Given the description of an element on the screen output the (x, y) to click on. 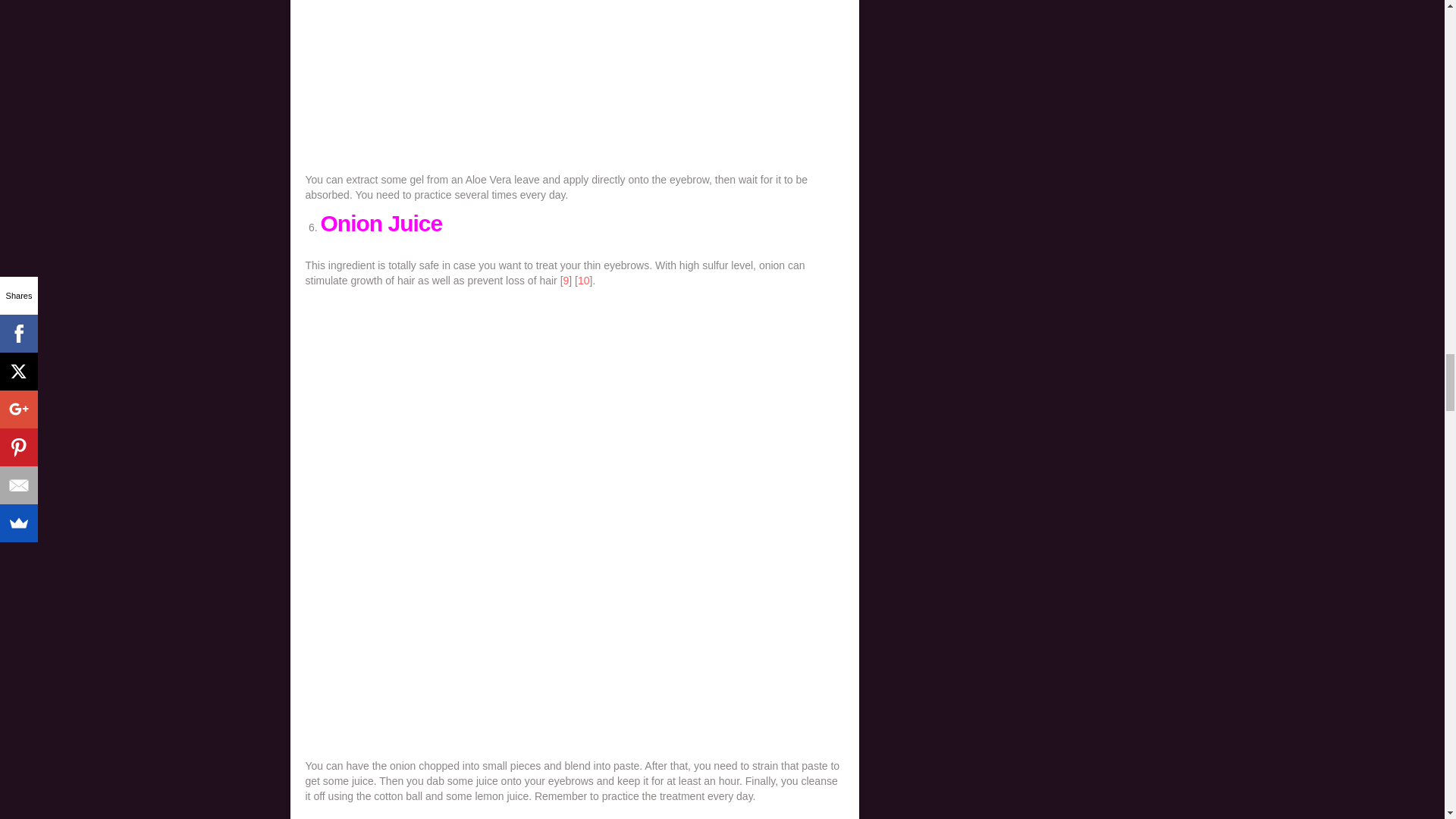
10 (583, 280)
